Given the description of an element on the screen output the (x, y) to click on. 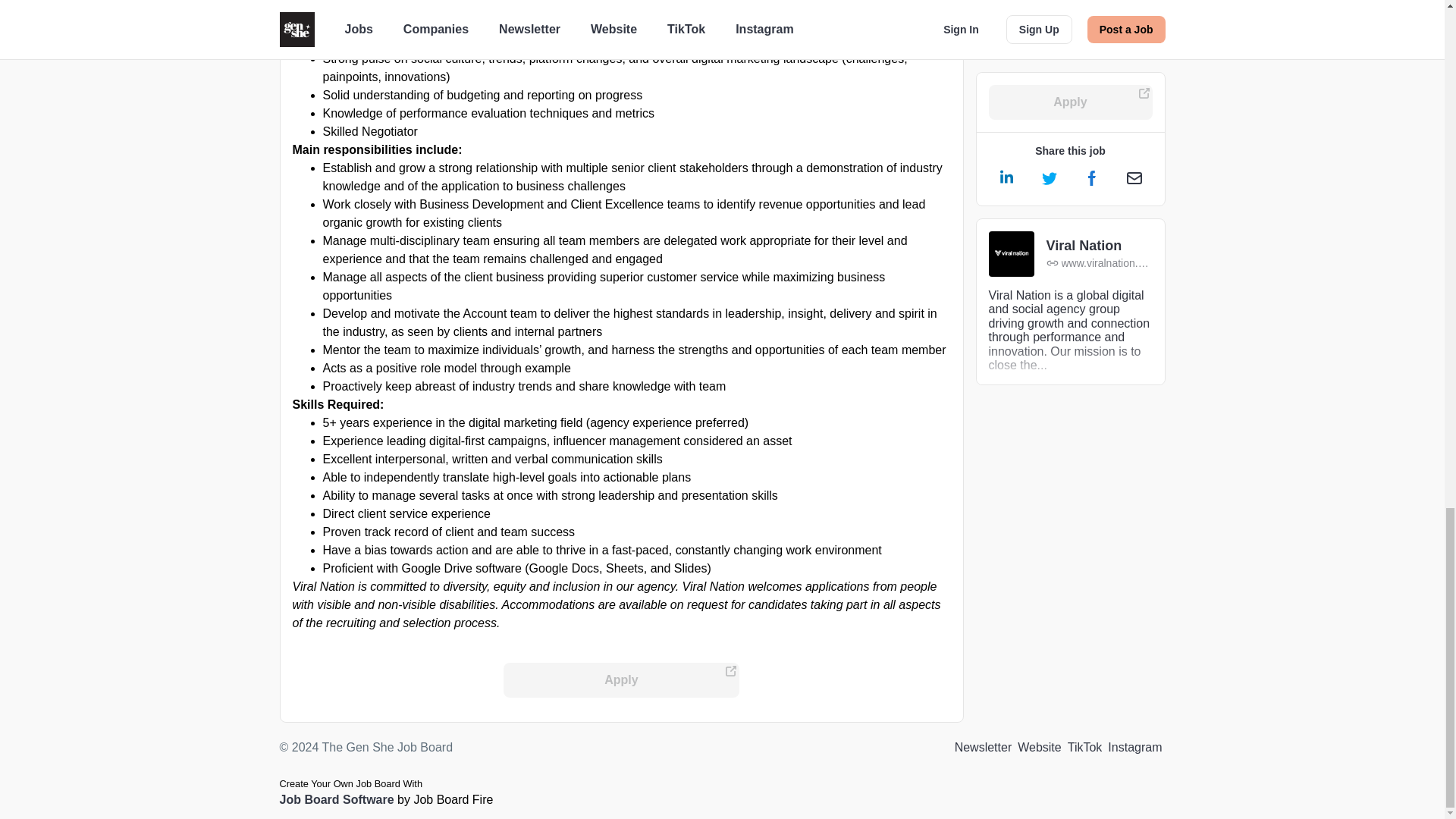
Apply (621, 679)
TikTok (1084, 747)
Website (1039, 747)
Job Board Software (336, 799)
Instagram (1134, 747)
Newsletter (983, 747)
Job Board Software (336, 799)
